Given the description of an element on the screen output the (x, y) to click on. 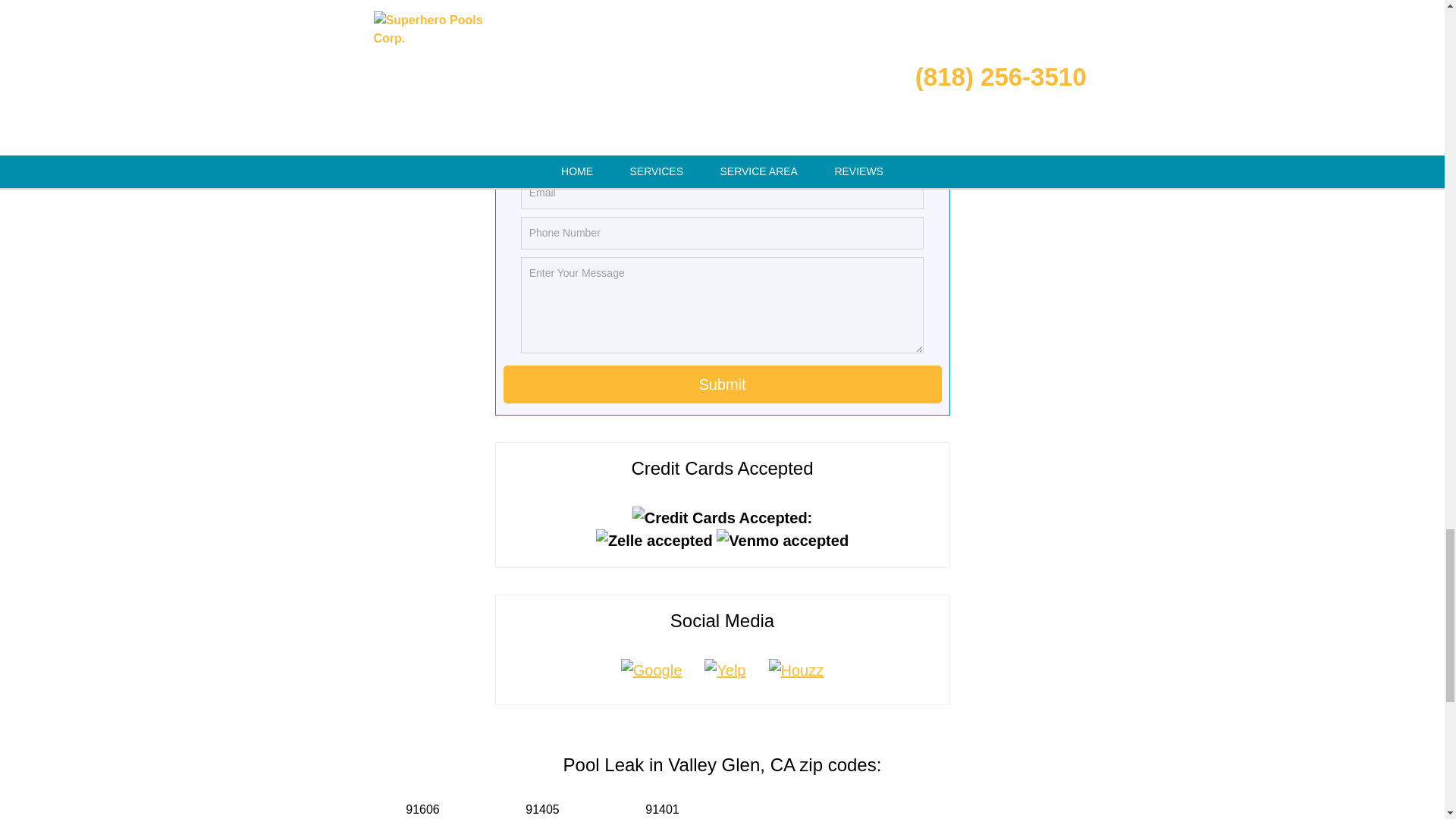
Yelp (725, 669)
Houzz (795, 669)
Google (652, 669)
Submit (722, 384)
